Given the description of an element on the screen output the (x, y) to click on. 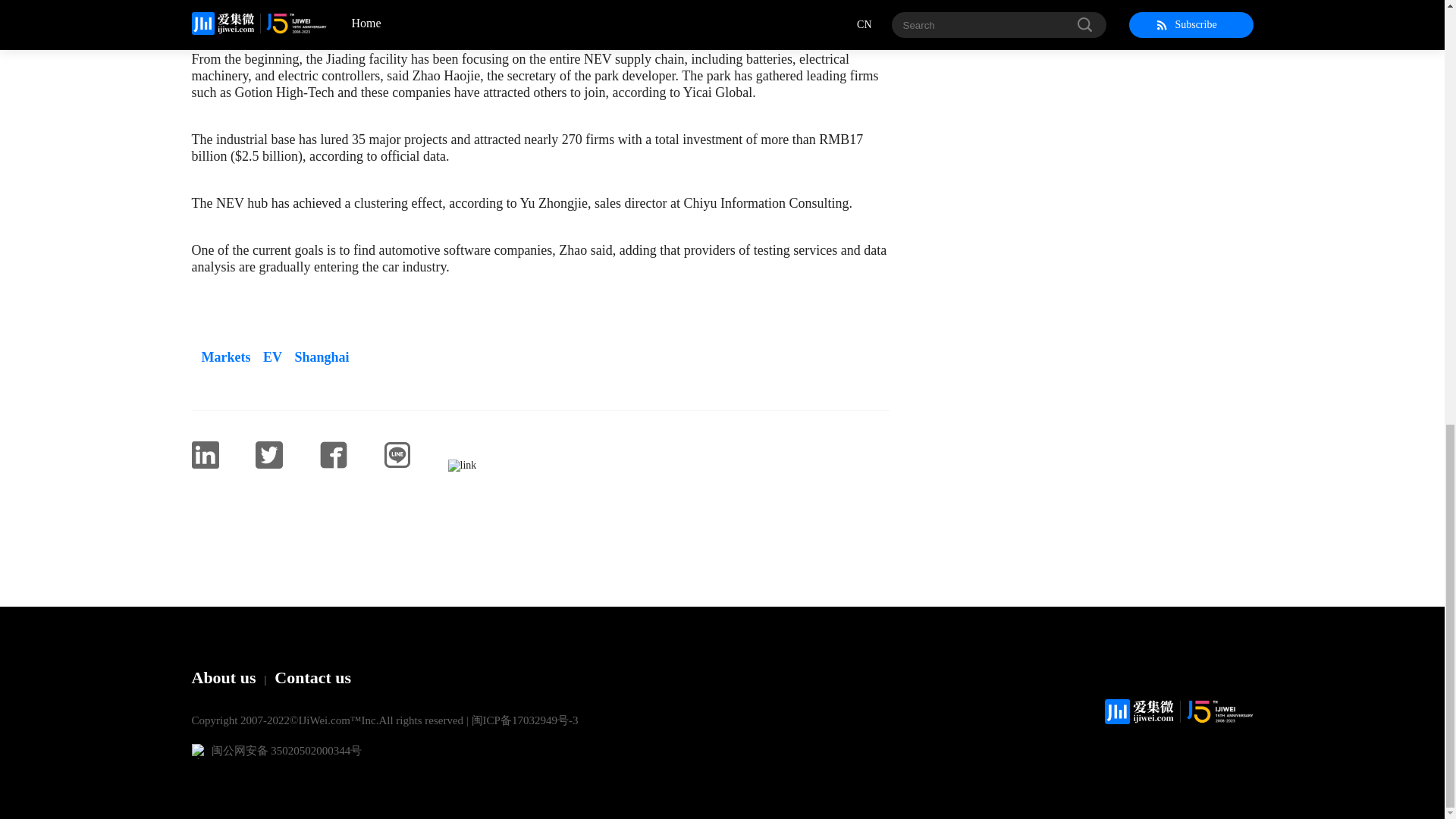
Markets (220, 356)
About us (223, 677)
Shanghai (317, 356)
EV (267, 356)
Contact us (312, 677)
